Given the description of an element on the screen output the (x, y) to click on. 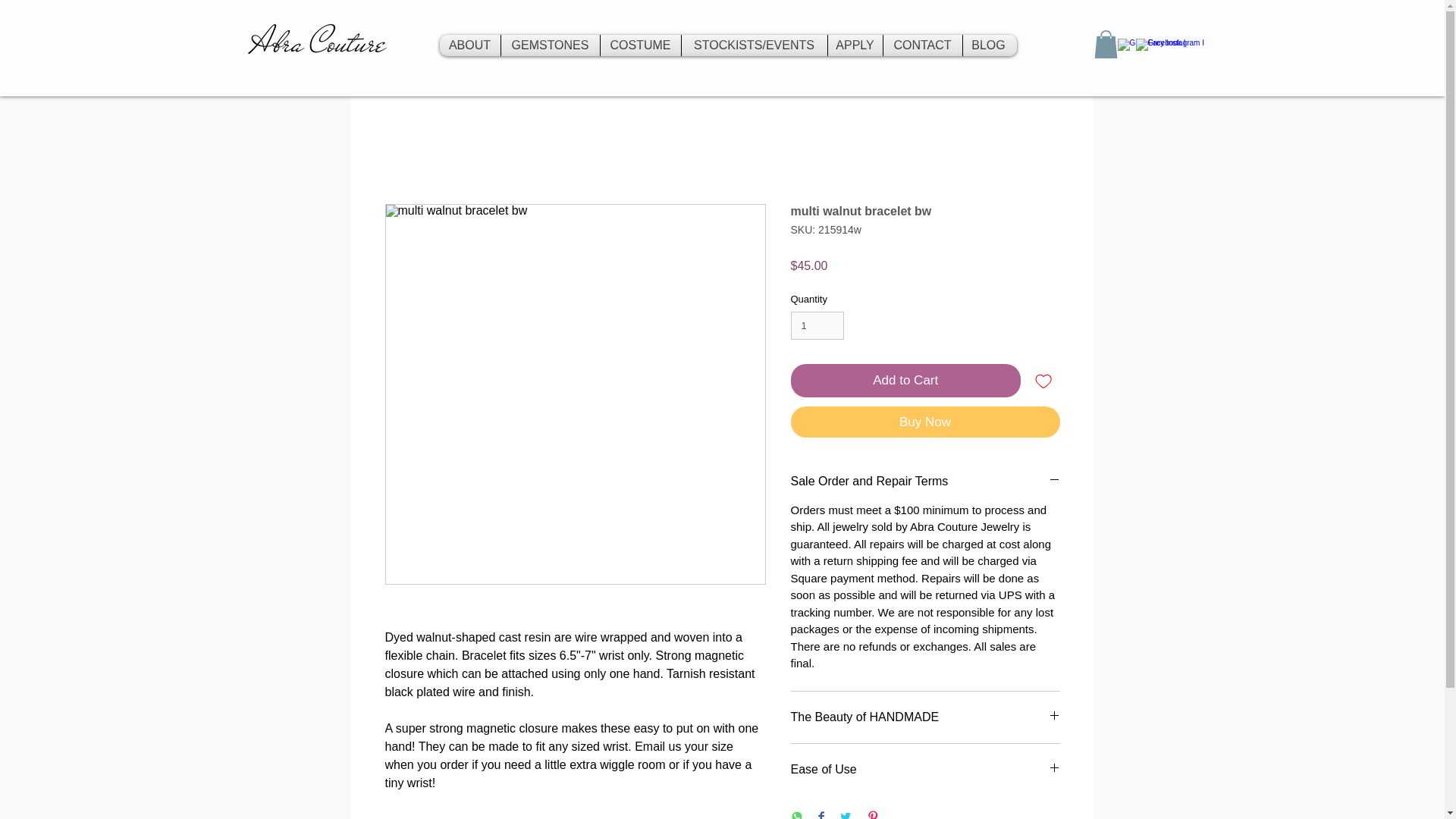
CONTACT (921, 45)
ABOUT (469, 45)
The Beauty of HANDMADE (924, 717)
GEMSTONES (549, 45)
APPLY (855, 45)
1 (817, 326)
Buy Now (924, 421)
Sale Order and Repair Terms (924, 481)
Add to Cart (905, 380)
Ease of Use (924, 769)
COSTUME (640, 45)
BLOG (988, 45)
